Given the description of an element on the screen output the (x, y) to click on. 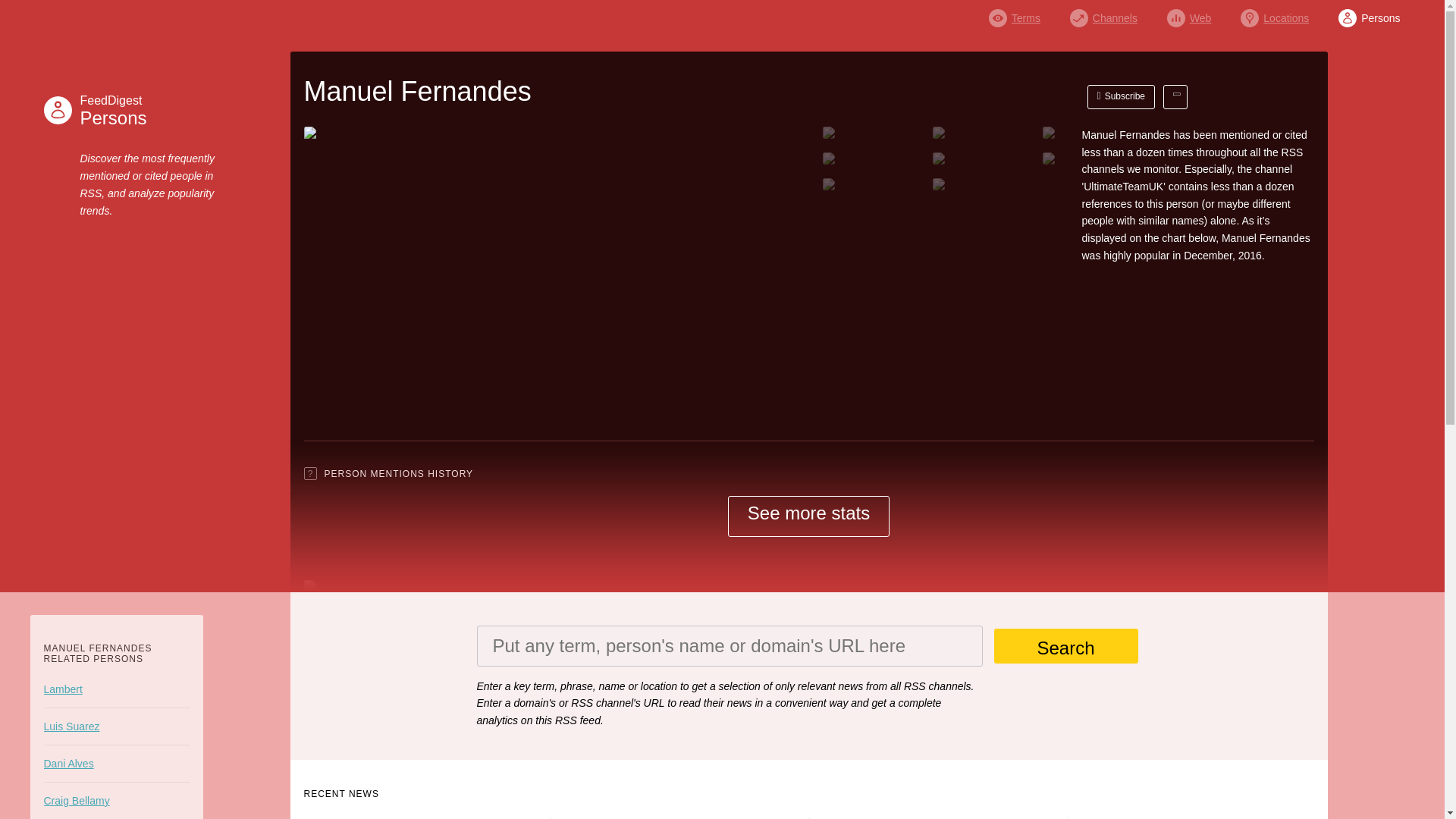
Locations (1274, 14)
Web (1189, 14)
See more stats (808, 516)
Channels (1103, 14)
Persons (114, 109)
Subscribe (1368, 14)
Search (1121, 96)
Terms (1064, 645)
